Given the description of an element on the screen output the (x, y) to click on. 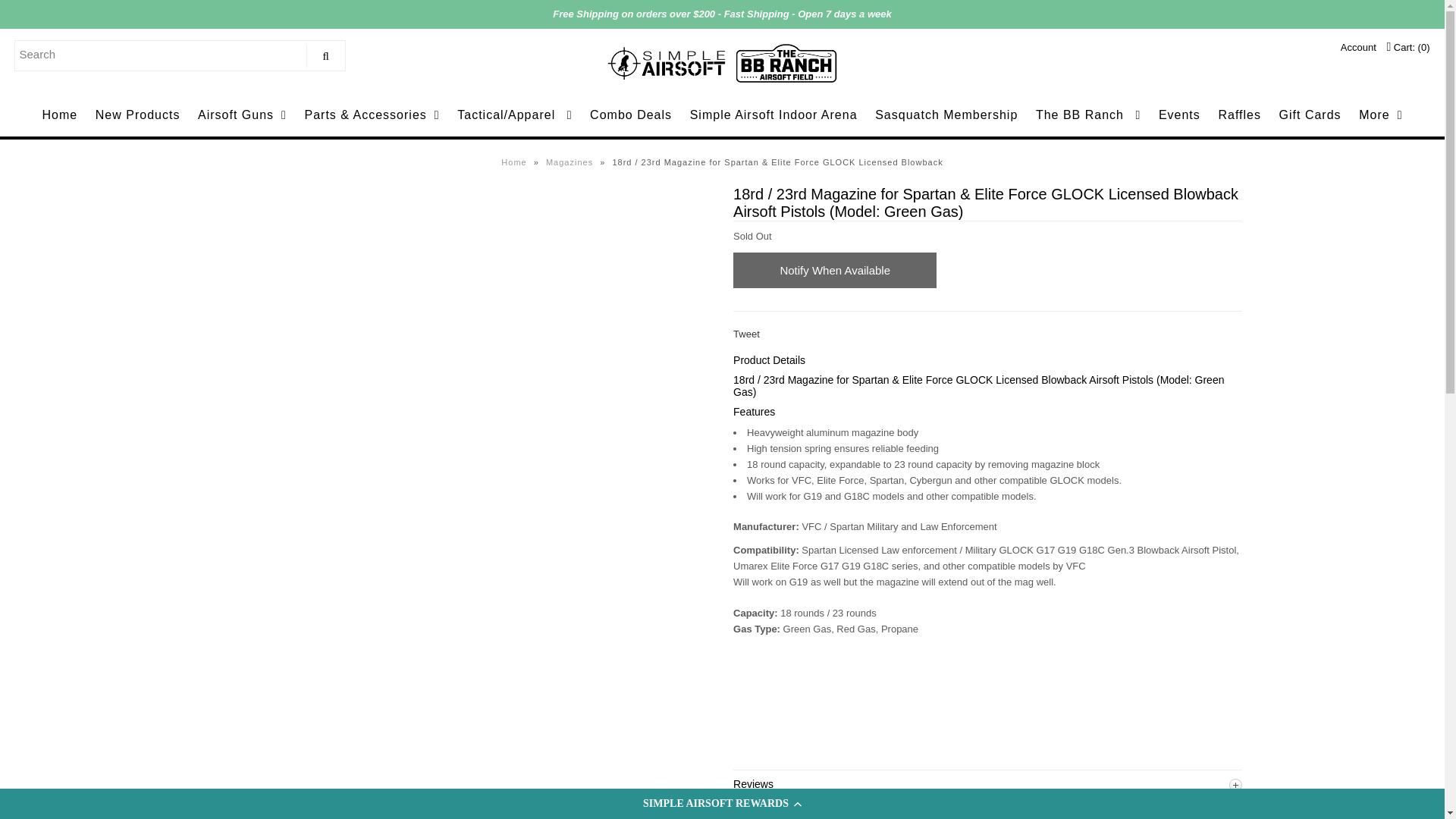
Home (514, 162)
Magazines (571, 162)
